Given the description of an element on the screen output the (x, y) to click on. 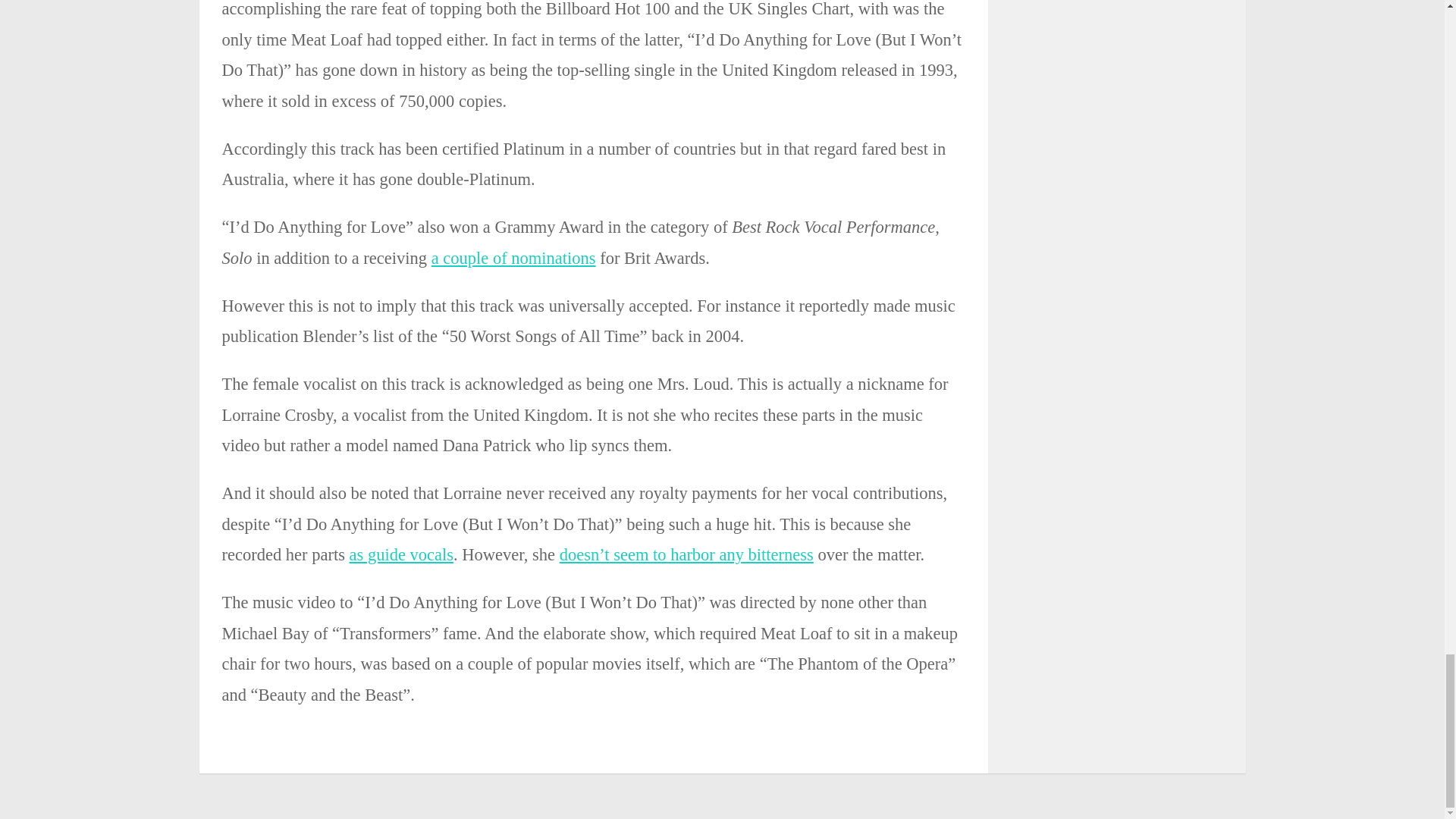
a couple of nominations (512, 257)
as guide vocals (400, 554)
